Given the description of an element on the screen output the (x, y) to click on. 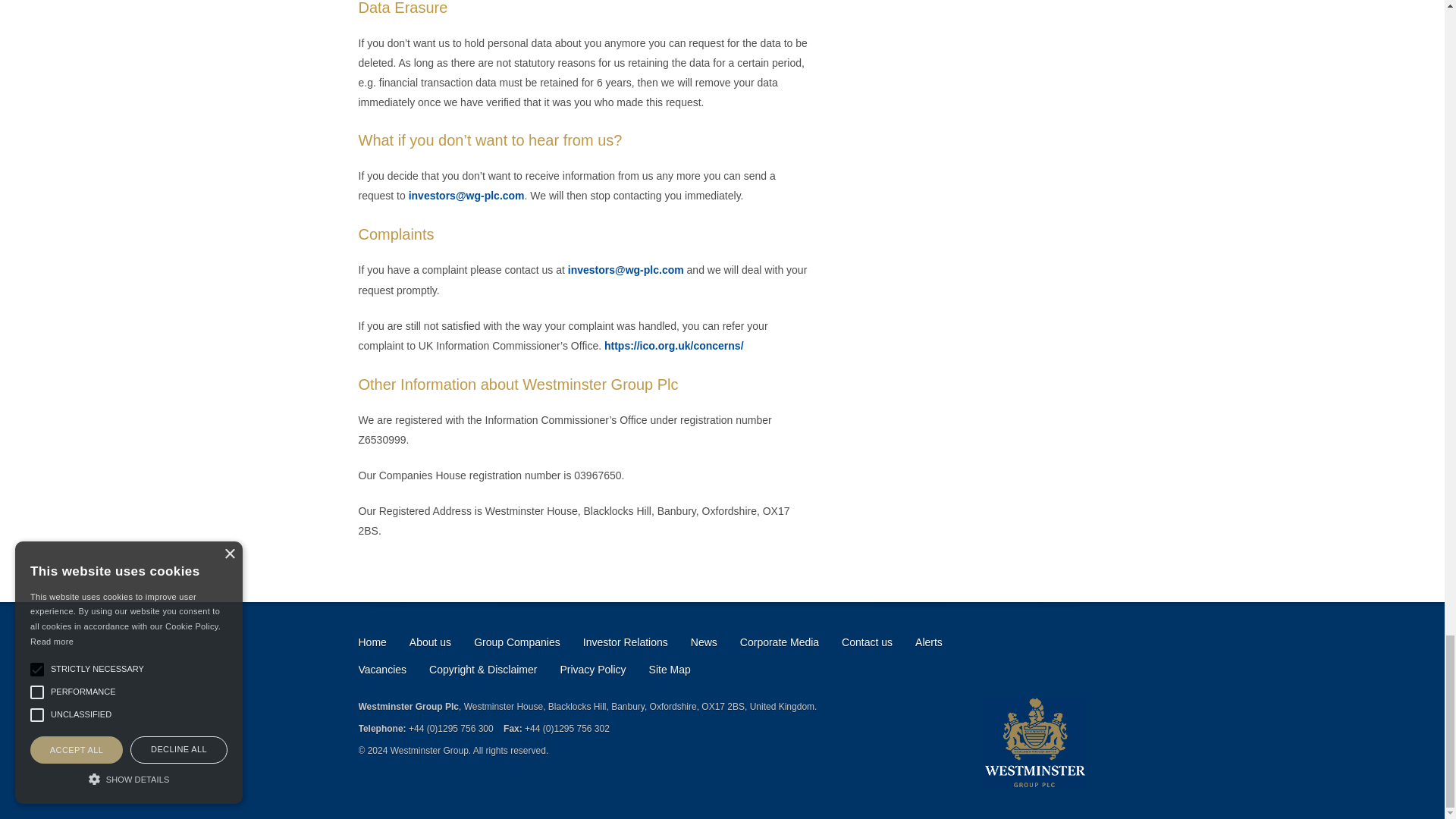
Investor Relations (625, 642)
Westminster Group Corporate (1034, 742)
Home (371, 642)
About us (430, 642)
Group Companies (517, 642)
Corporate Media (778, 642)
News (703, 642)
